Given the description of an element on the screen output the (x, y) to click on. 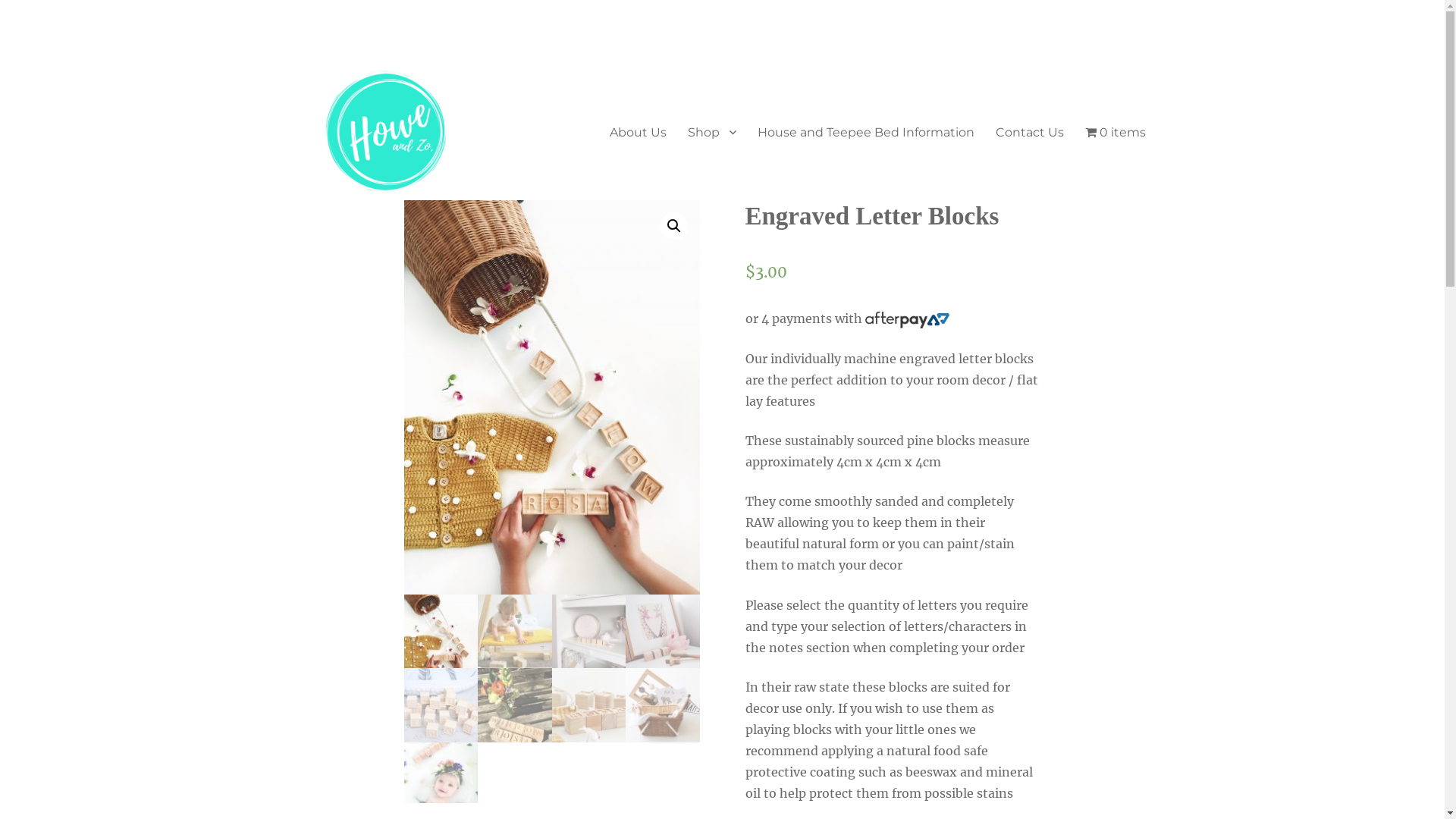
House and Teepee Bed Information Element type: text (865, 131)
Processed with VSCO with j1 preset Element type: hover (551, 397)
Shop Element type: text (711, 131)
0 items Element type: text (1115, 131)
Howe and Zo Element type: text (371, 223)
About Us Element type: text (638, 131)
Contact Us Element type: text (1029, 131)
